Given the description of an element on the screen output the (x, y) to click on. 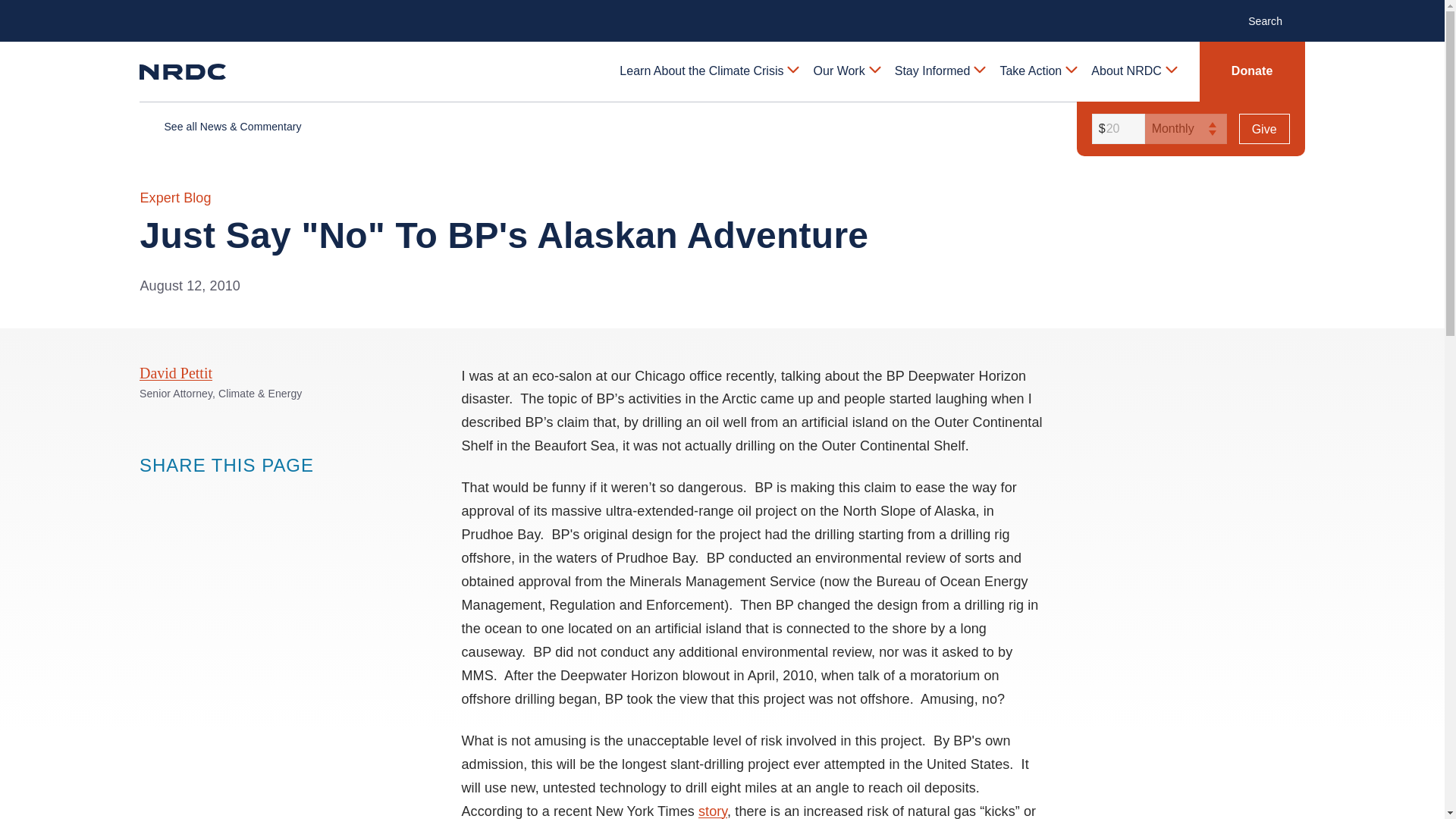
Share this page block (149, 493)
Learn About the Climate Crisis (707, 71)
20 (1116, 128)
Search (1272, 19)
Stay Informed (939, 71)
Share this page block (210, 493)
Share this page block (180, 493)
Our Work (846, 71)
Skip to main content (721, 12)
